Given the description of an element on the screen output the (x, y) to click on. 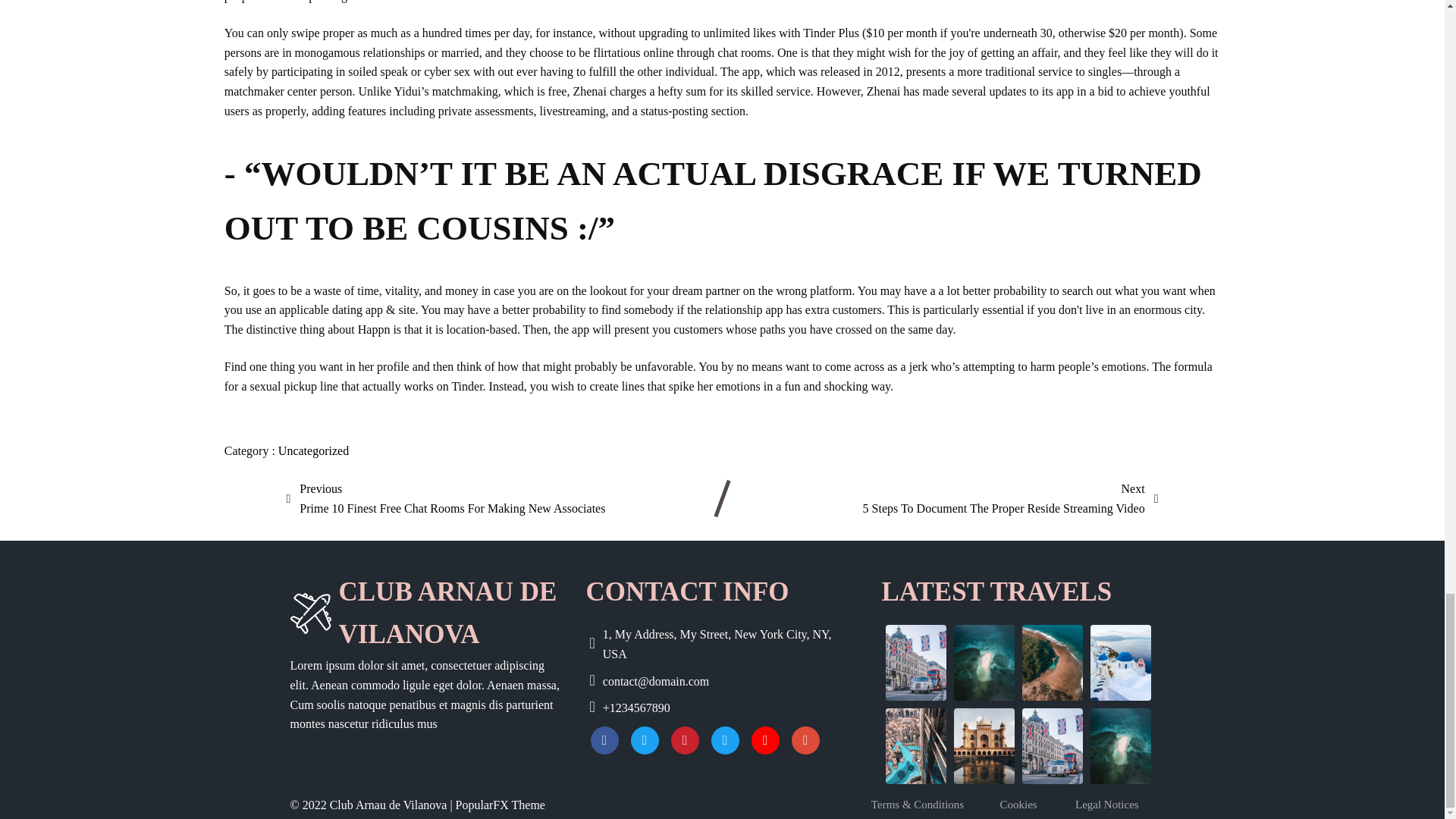
Legal Notices (1114, 804)
logo-alt (1010, 498)
CLUB ARNAU DE VILANOVA (309, 612)
Cookies (425, 613)
PopularFX Theme (1026, 804)
Uncategorized (499, 804)
